Given the description of an element on the screen output the (x, y) to click on. 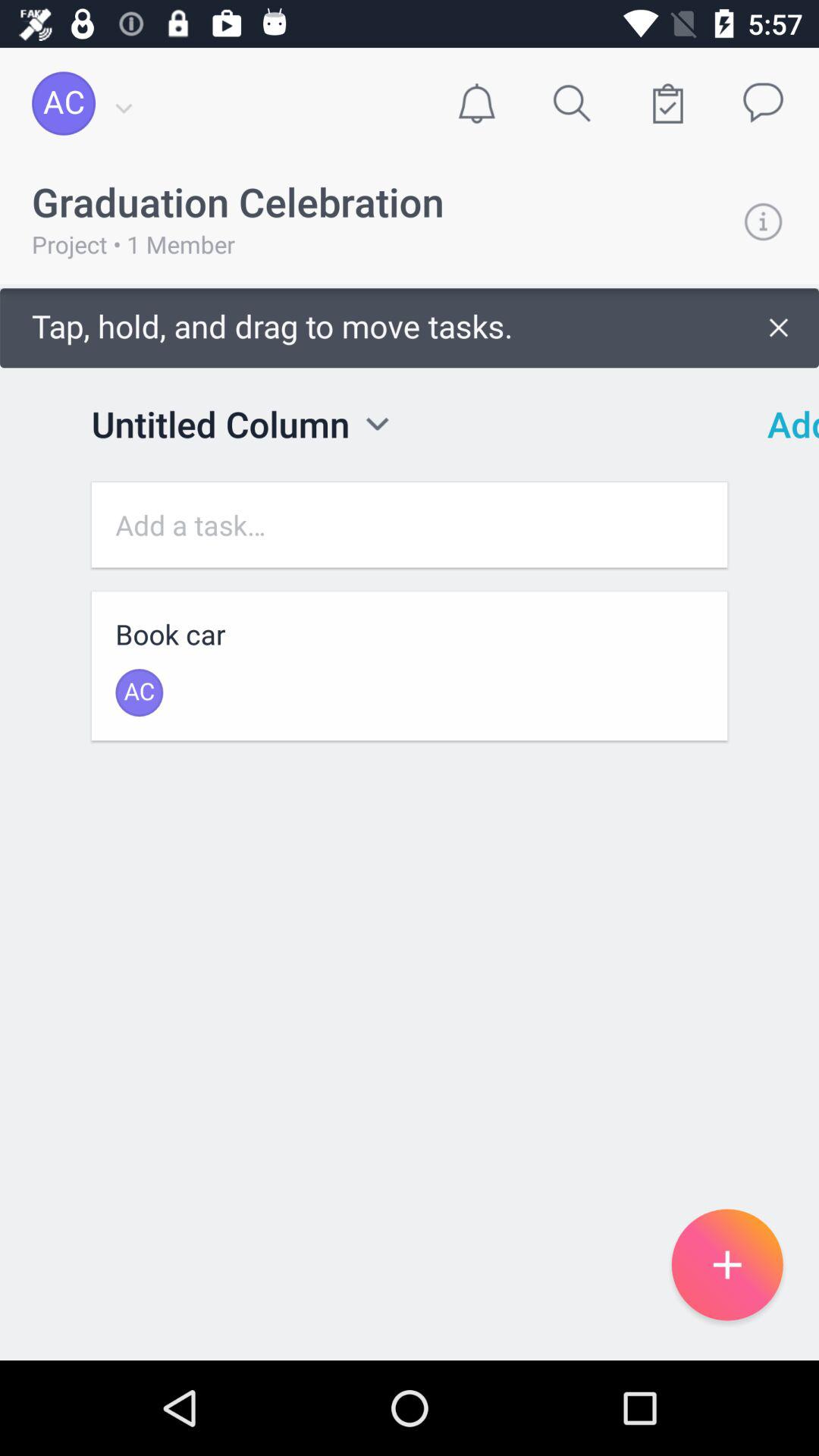
review options (377, 423)
